Given the description of an element on the screen output the (x, y) to click on. 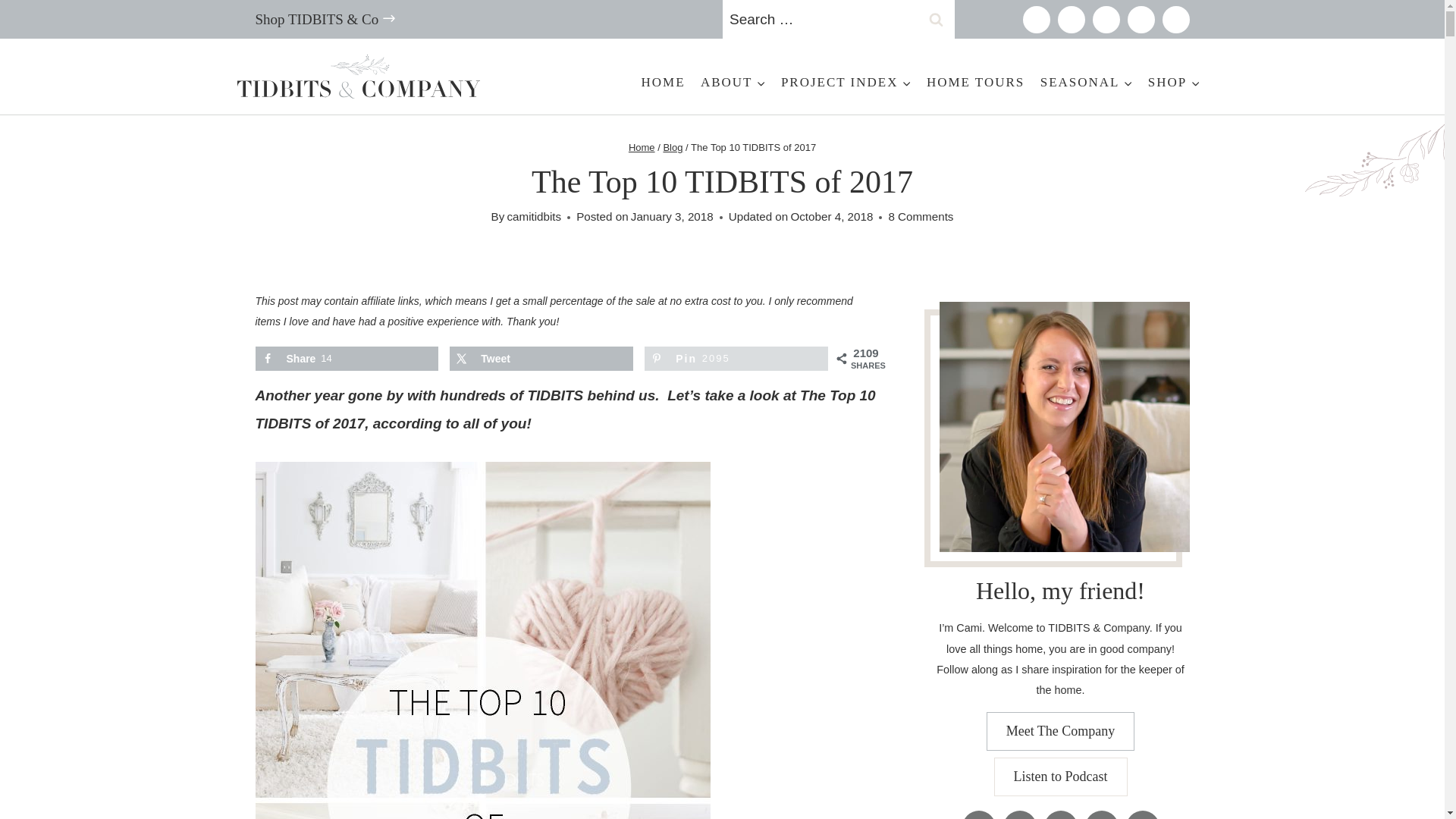
HOME (663, 82)
Search (936, 19)
Share on X (541, 358)
8 Comments (920, 217)
Share on Facebook (346, 358)
Search (936, 19)
Search (936, 19)
SEASONAL (1086, 82)
Save to Pinterest (736, 358)
PROJECT INDEX (845, 82)
